Given the description of an element on the screen output the (x, y) to click on. 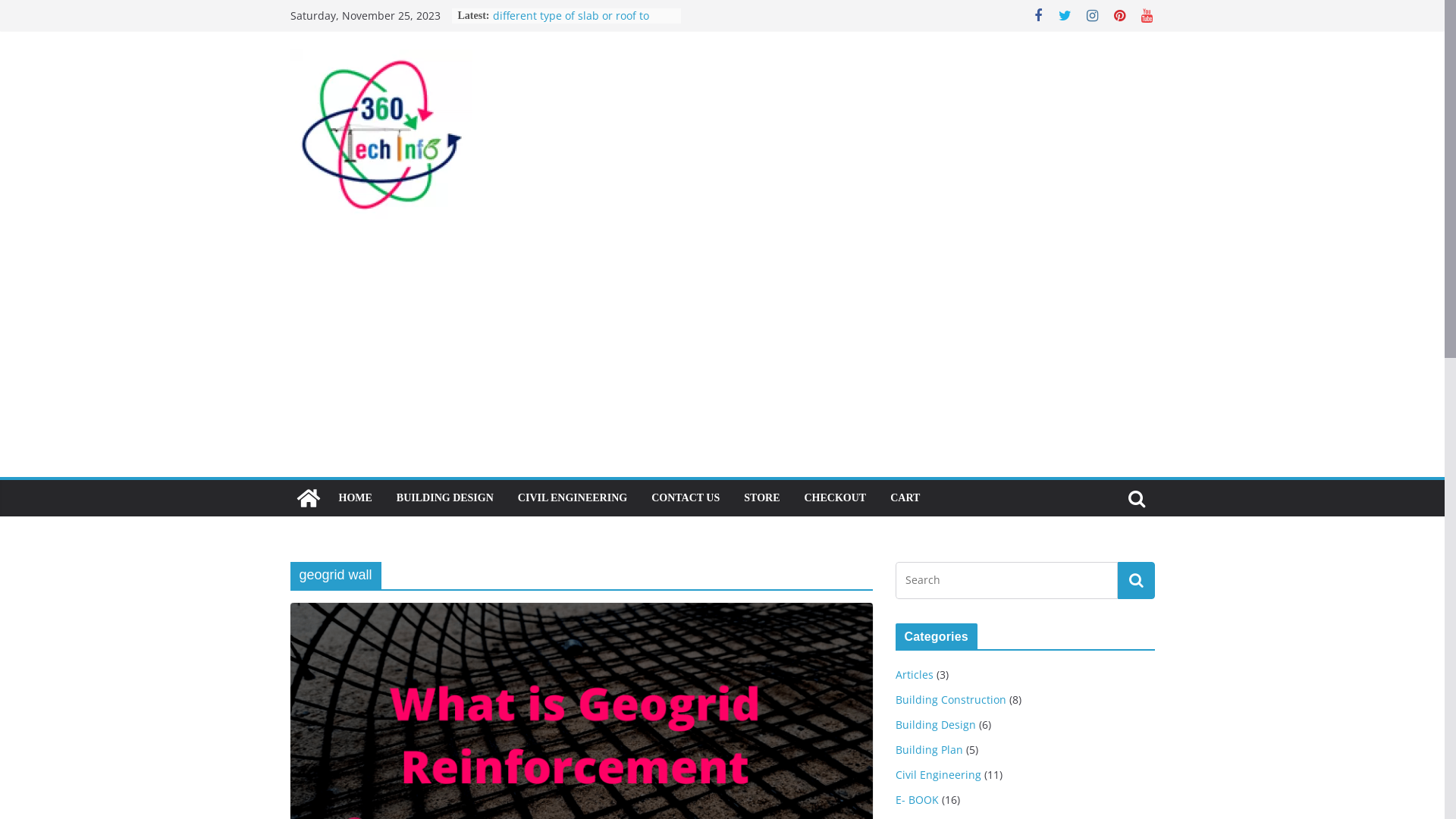
Building Construction Element type: text (949, 699)
Difference between OPC and PPC Cement and their use Element type: text (576, 22)
Articles Element type: text (913, 674)
CHECKOUT Element type: text (834, 497)
HOME Element type: text (354, 497)
Building Plan Element type: text (928, 749)
STORE Element type: text (761, 497)
CIVIL ENGINEERING Element type: text (572, 497)
Civil Engineering Element type: text (937, 774)
Advertisement Element type: hover (721, 363)
E- BOOK Element type: text (916, 799)
CART Element type: text (904, 497)
CONTACT US Element type: text (685, 497)
Building Design Element type: text (934, 724)
360techinfo Element type: hover (307, 498)
BUILDING DESIGN Element type: text (444, 497)
